Given the description of an element on the screen output the (x, y) to click on. 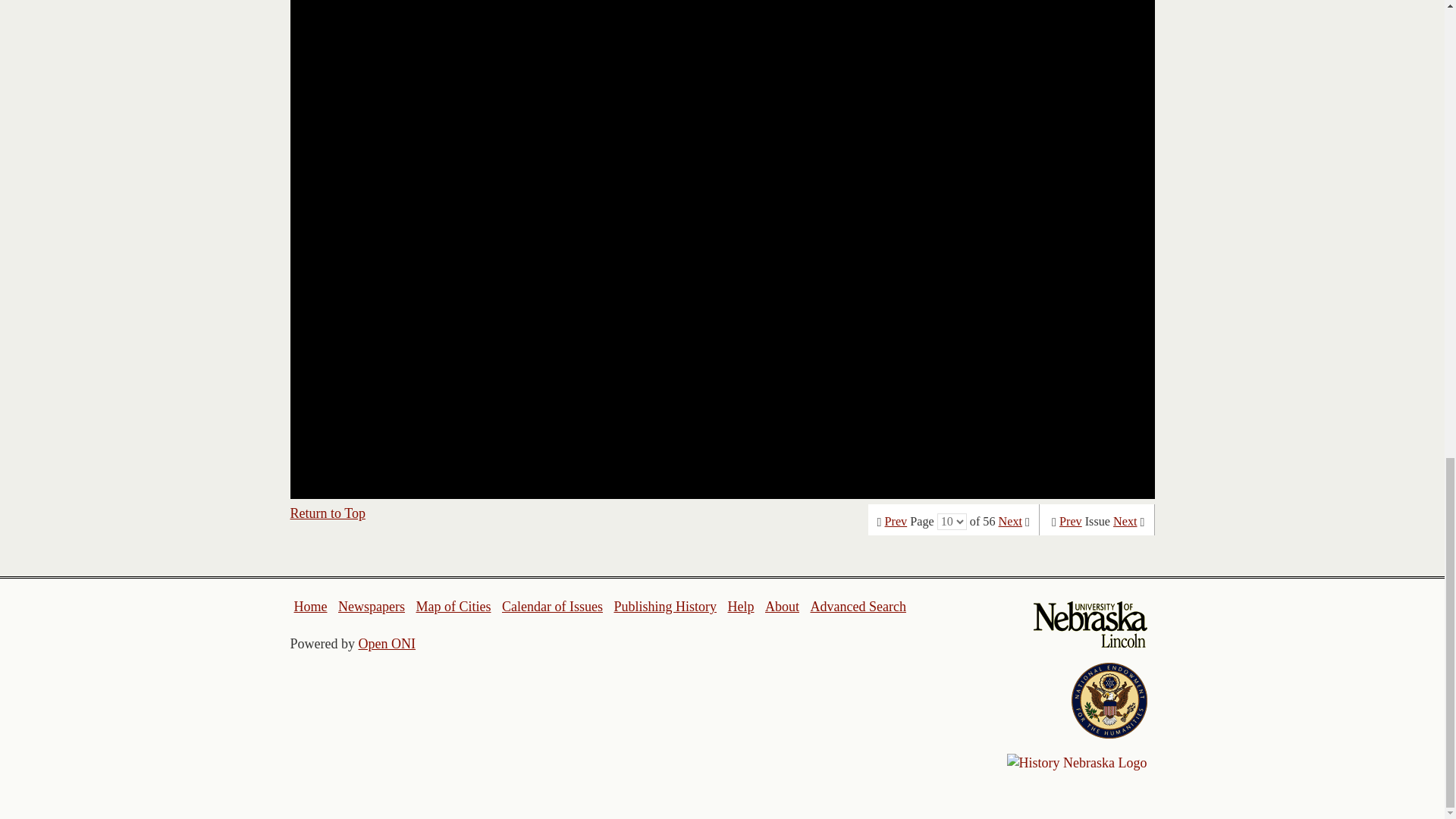
Publishing History (664, 606)
Newspapers (370, 606)
Next (1125, 521)
Home (310, 606)
About (782, 606)
Advanced Search (857, 606)
Prev (1070, 521)
Next (1010, 521)
Help (740, 606)
Map of Cities (452, 606)
